Given the description of an element on the screen output the (x, y) to click on. 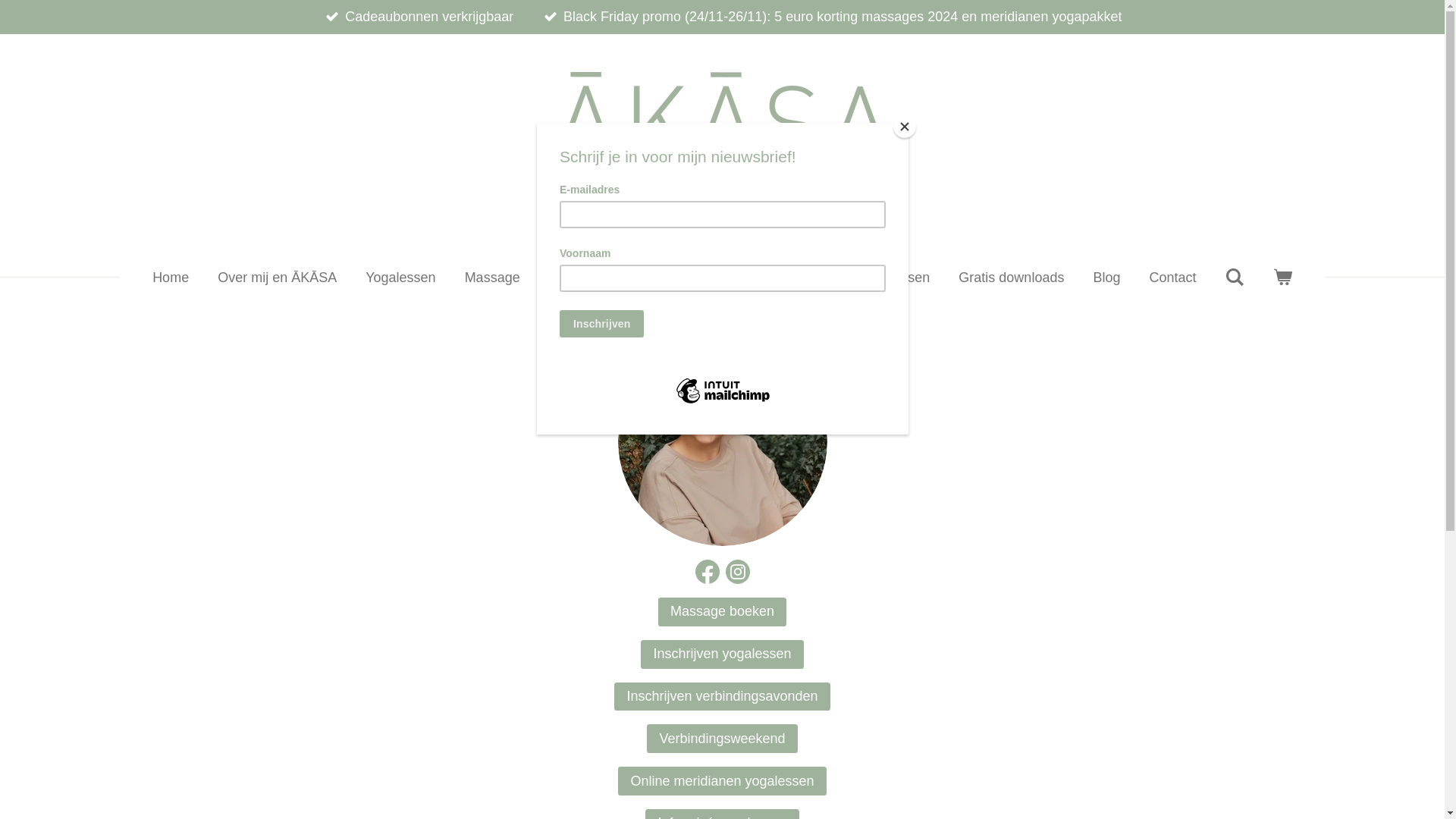
Inschrijven verbindingsavonden Element type: text (722, 696)
Yogalessen Element type: text (399, 277)
Yogaweekend Element type: text (591, 277)
Zoeken Element type: hover (1234, 277)
Online meridianen yogalessen Element type: text (837, 277)
Verbindingsweekend Element type: text (721, 738)
Gratis downloads Element type: text (1010, 277)
Contact Element type: text (1172, 277)
Home Element type: text (170, 277)
Blog Element type: text (1106, 277)
Bekijk winkelwagen Element type: hover (1282, 277)
Massage Element type: text (492, 277)
Massage boeken Element type: text (722, 611)
Cadeaus Element type: text (690, 277)
Online meridianen yogalessen Element type: text (722, 780)
Inschrijven yogalessen Element type: text (721, 654)
